Given the description of an element on the screen output the (x, y) to click on. 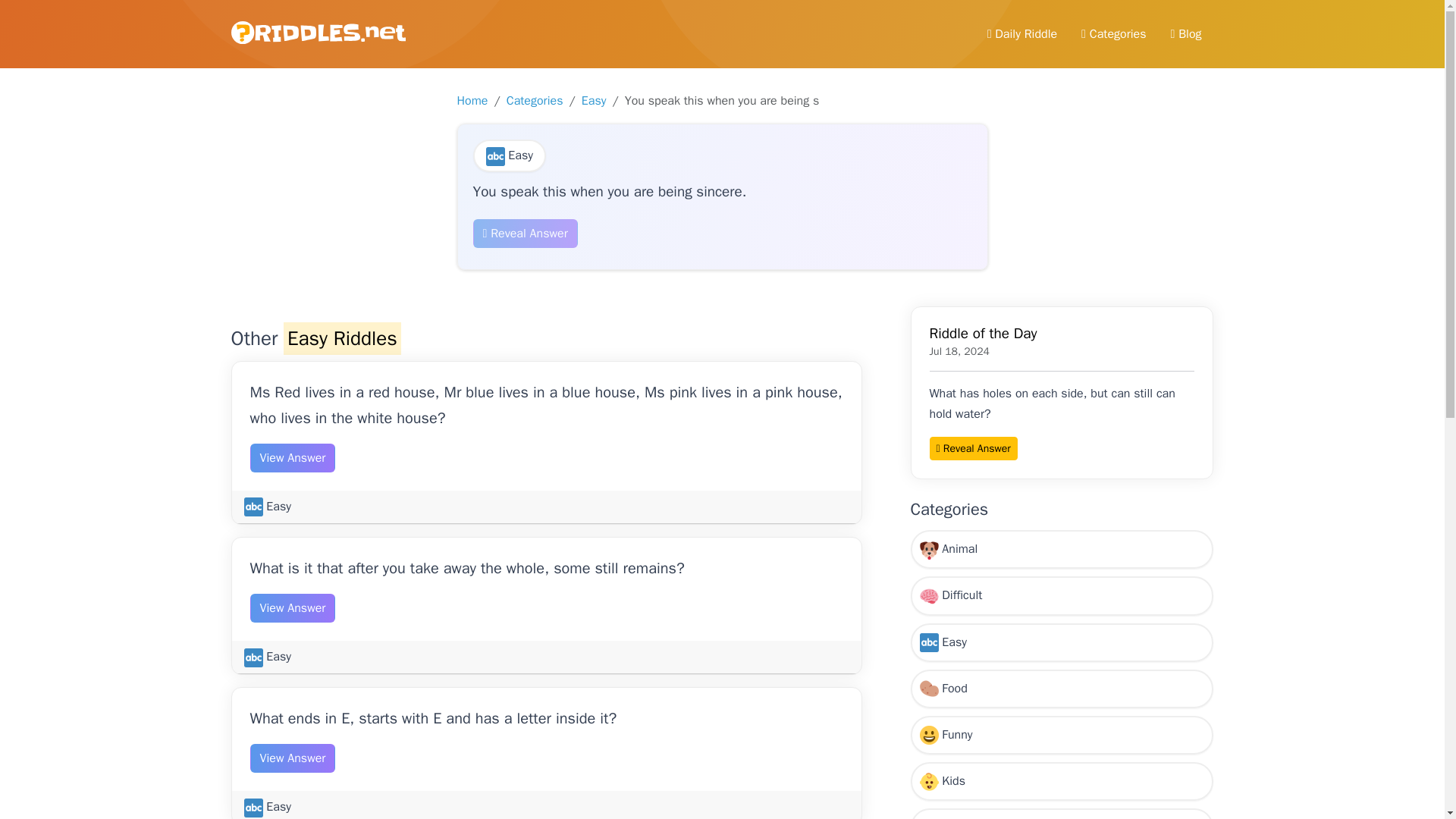
Easy (267, 656)
Easy Riddles (342, 338)
Kids (1061, 781)
What ends in E, starts with E and has a letter inside it? (433, 718)
Logic (1061, 813)
View Answer (293, 607)
Easy (267, 506)
View Answer (293, 758)
Categories (534, 100)
Easy (593, 100)
Difficult (1061, 595)
Funny (1061, 734)
Home (472, 100)
Easy (1061, 642)
